Given the description of an element on the screen output the (x, y) to click on. 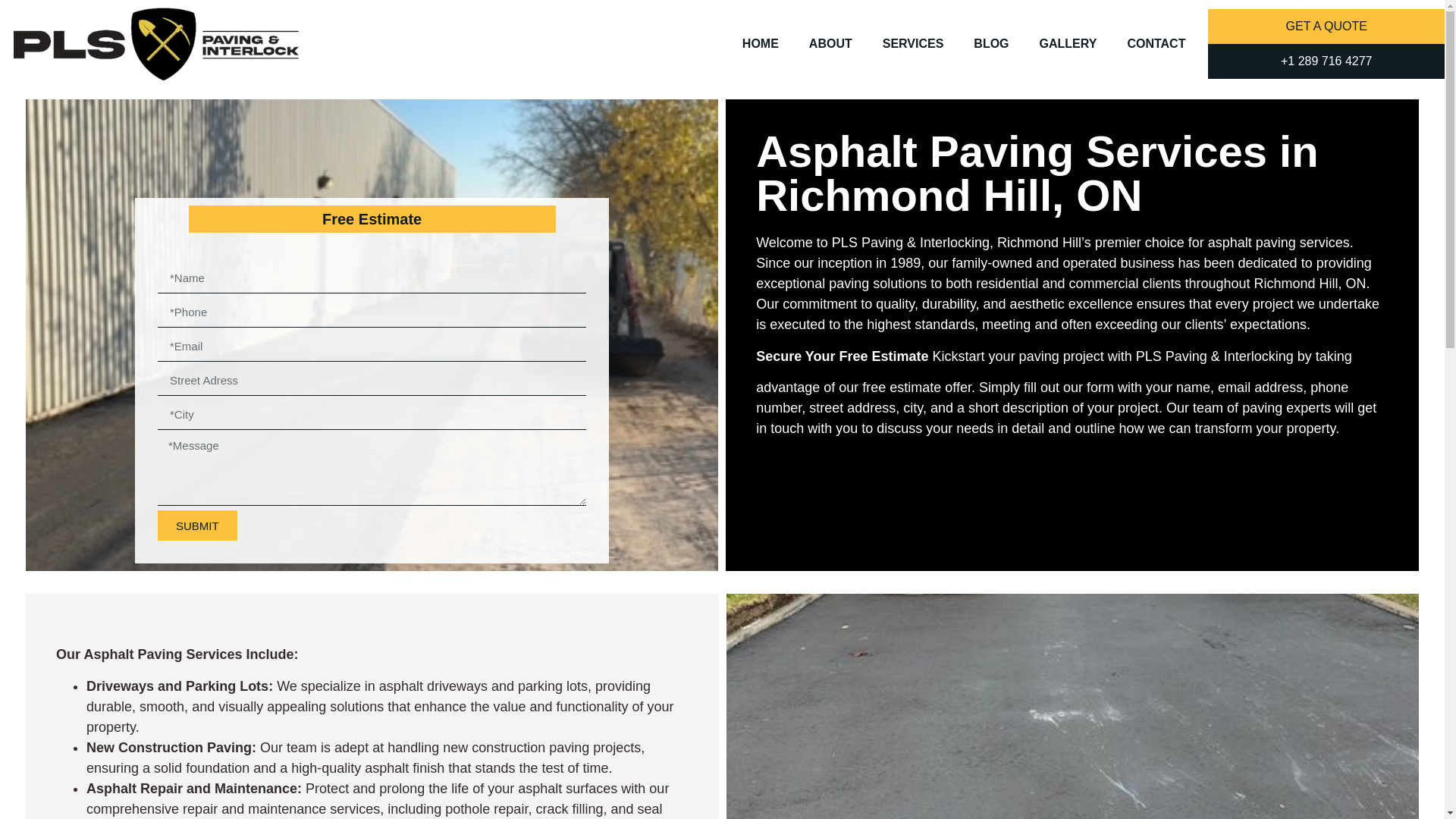
ABOUT (830, 43)
HOME (759, 43)
SERVICES (913, 43)
BLOG (990, 43)
GALLERY (1068, 43)
CONTACT (1155, 43)
